Given the description of an element on the screen output the (x, y) to click on. 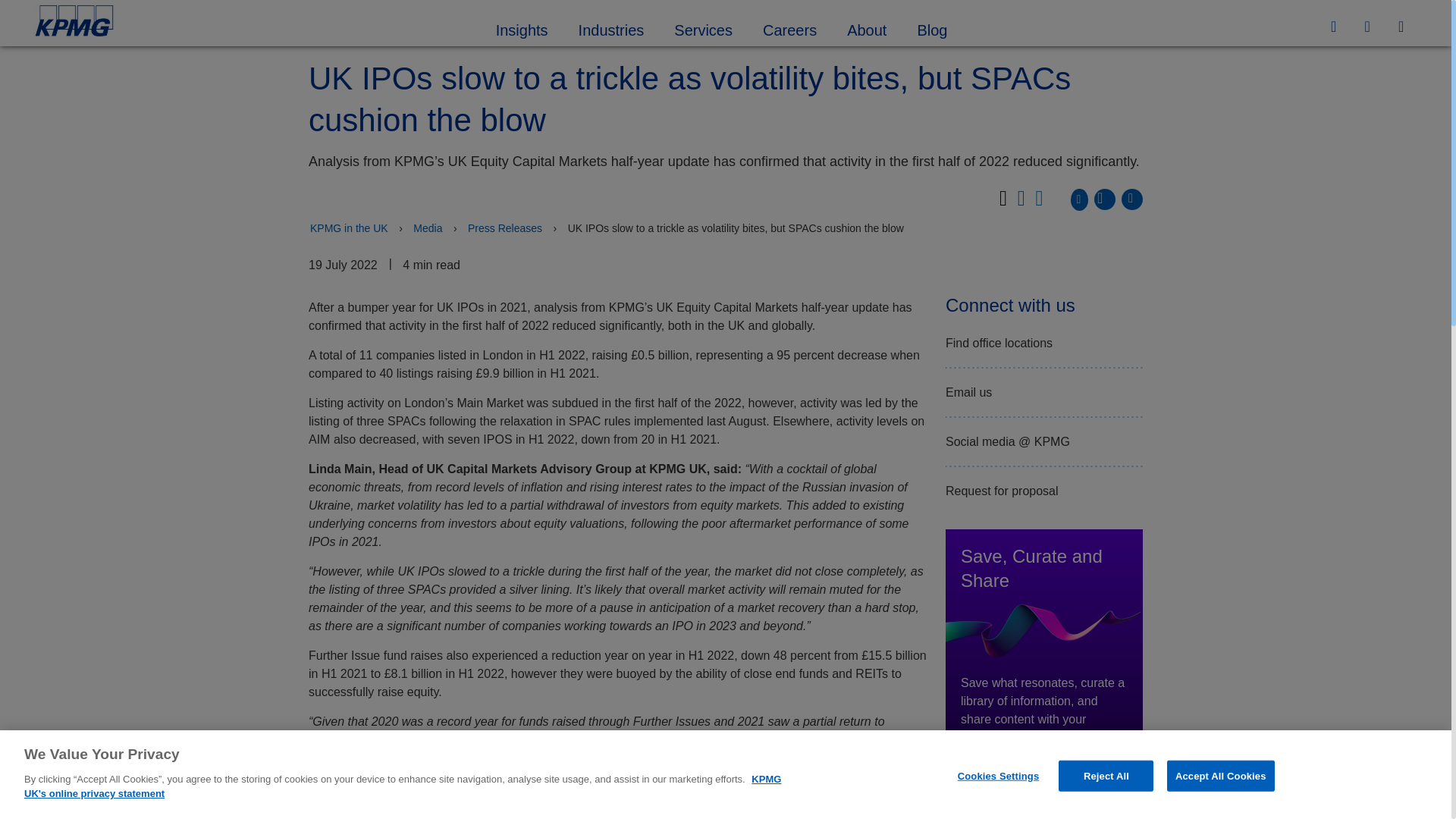
Industries (611, 28)
Careers (789, 28)
Services (703, 28)
Insights (521, 28)
